Given the description of an element on the screen output the (x, y) to click on. 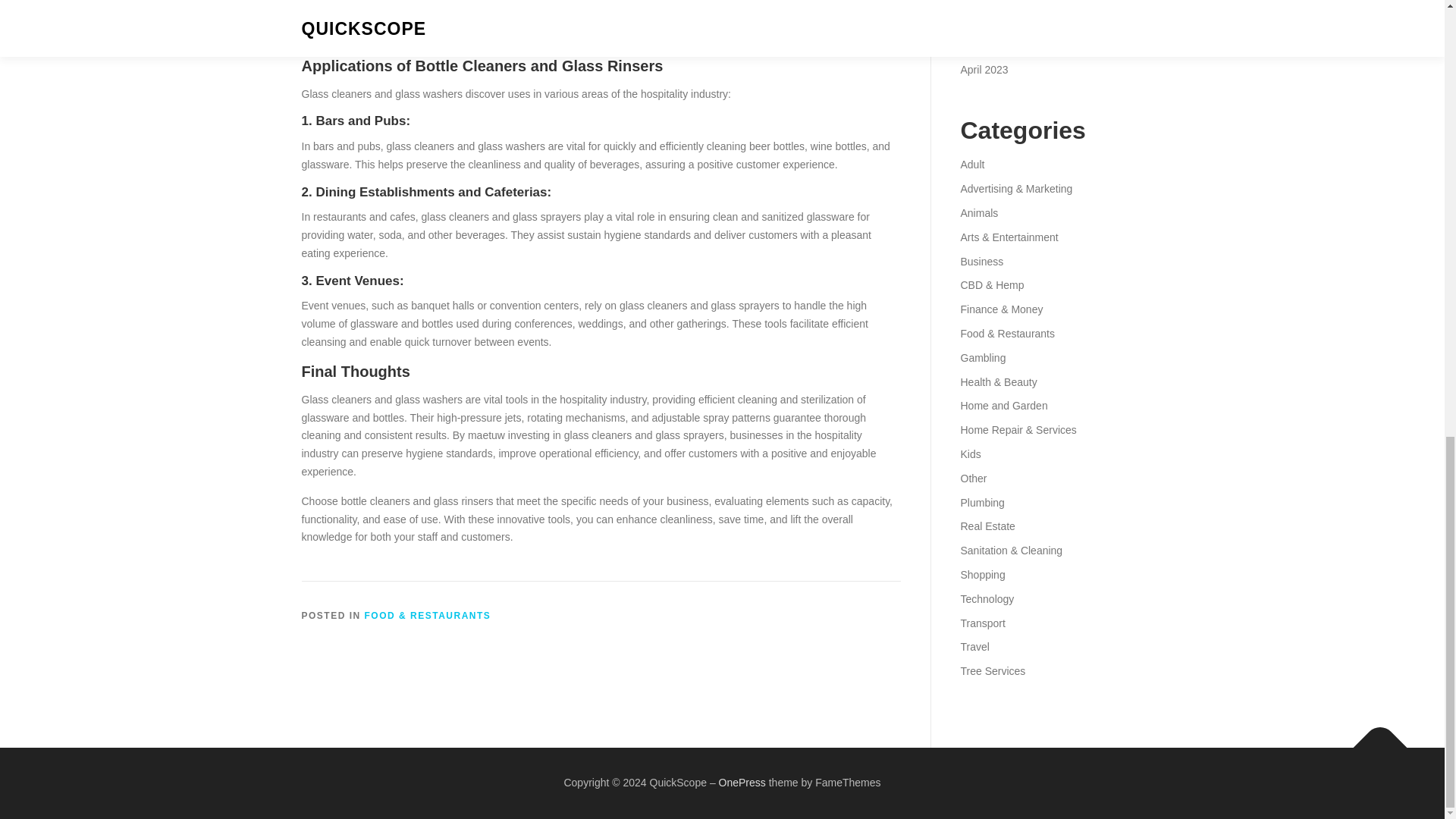
July 2023 (982, 2)
April 2023 (983, 69)
Animals (978, 213)
June 2023 (984, 21)
Back To Top (1372, 740)
May 2023 (982, 45)
Business (981, 261)
Adult (971, 164)
